Given the description of an element on the screen output the (x, y) to click on. 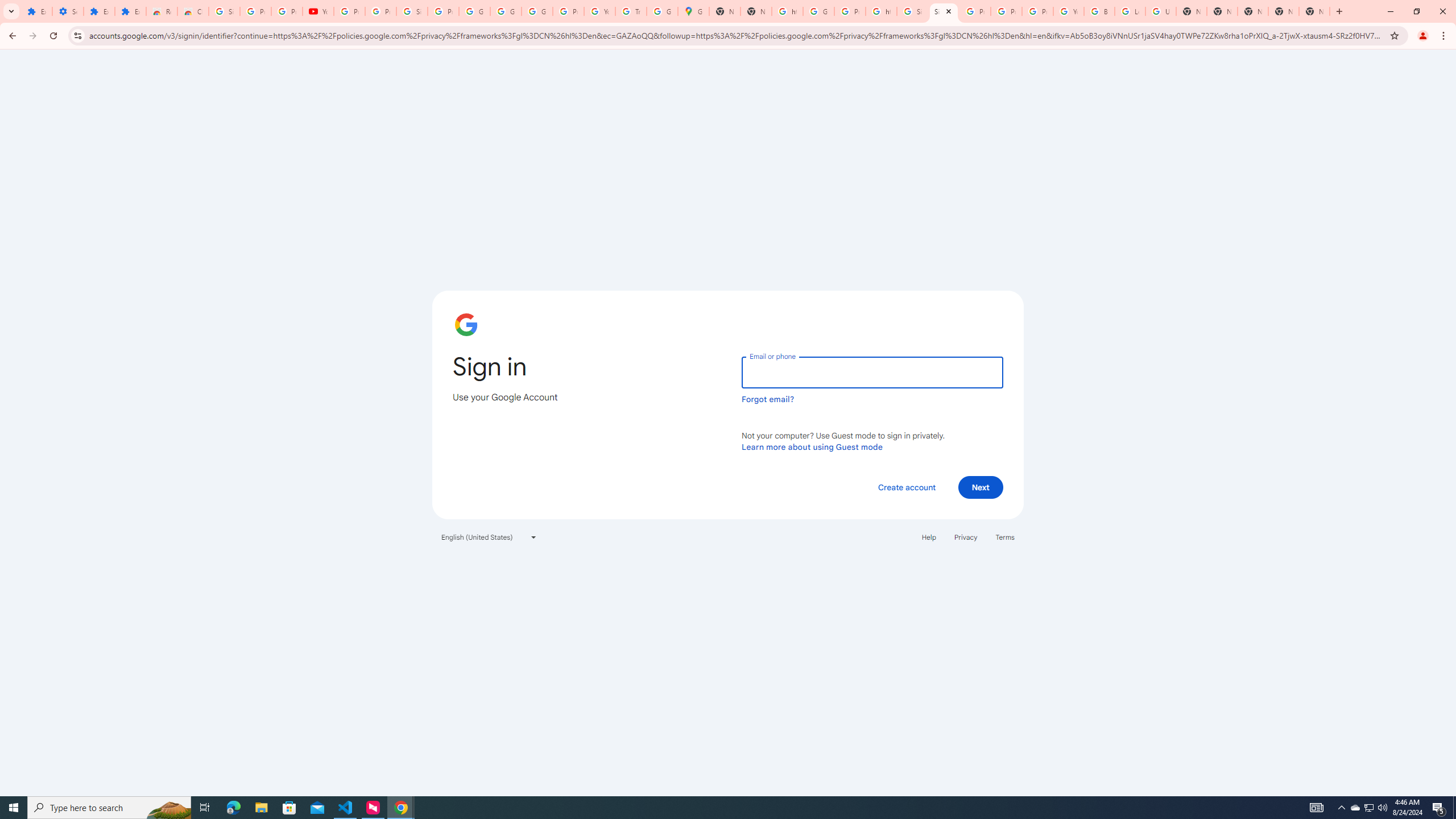
Create account (905, 486)
Sign in - Google Accounts (943, 11)
Google Account (474, 11)
YouTube (599, 11)
Privacy Help Center - Policies Help (1005, 11)
Google Maps (693, 11)
Chrome Web Store - Themes (192, 11)
